Given the description of an element on the screen output the (x, y) to click on. 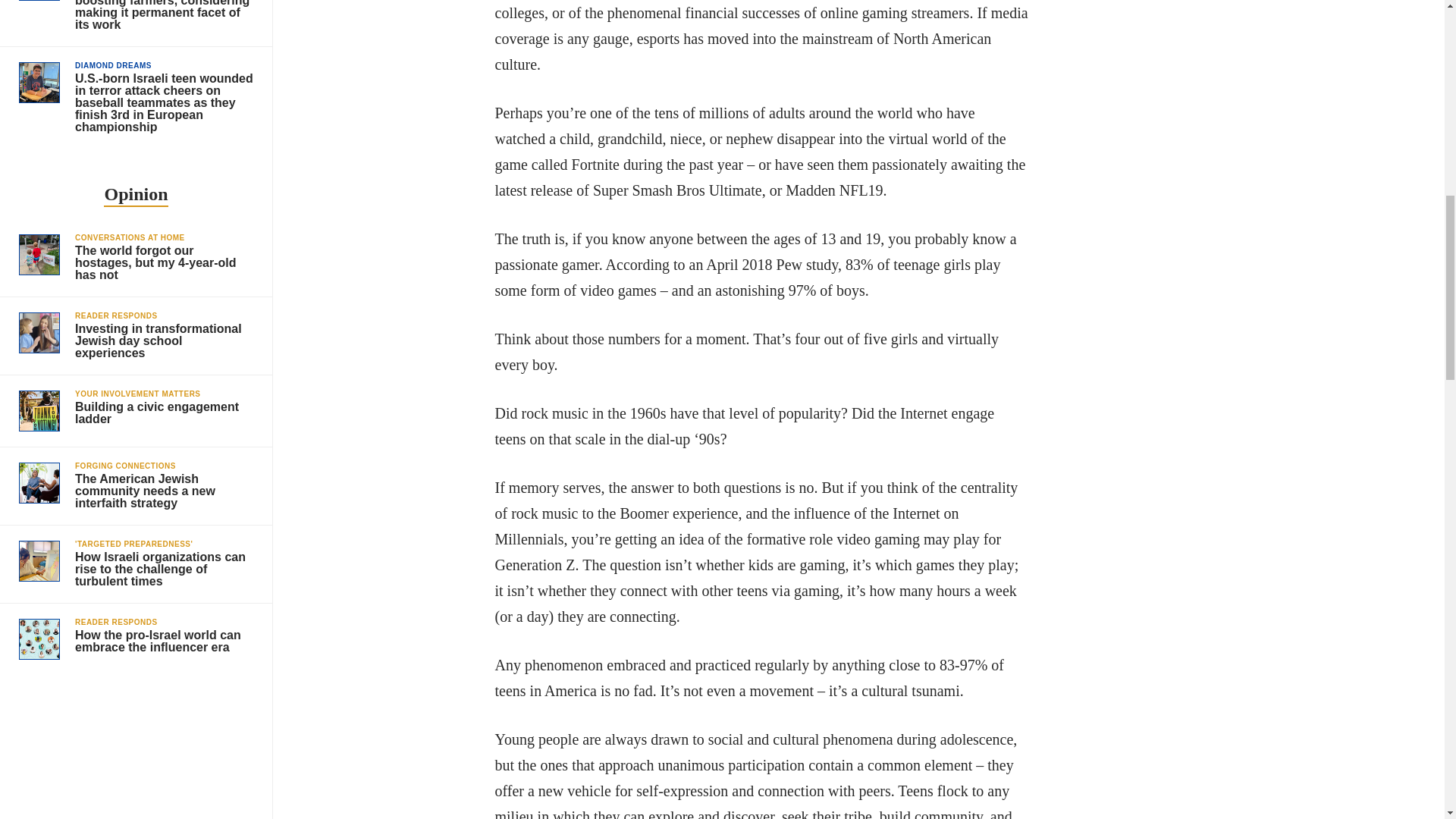
Opinion (135, 196)
